Given the description of an element on the screen output the (x, y) to click on. 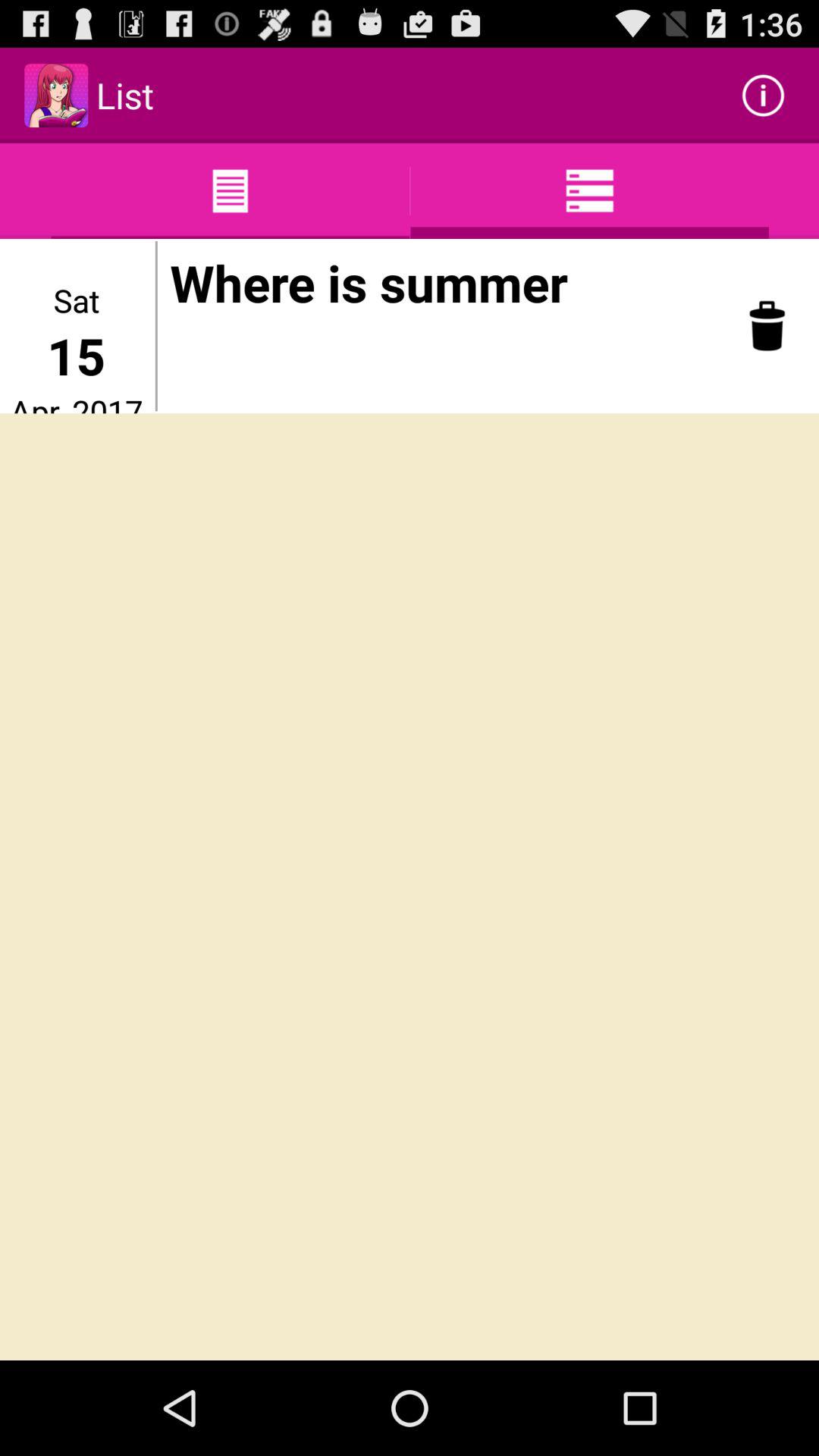
press the icon above the 15 item (76, 299)
